Given the description of an element on the screen output the (x, y) to click on. 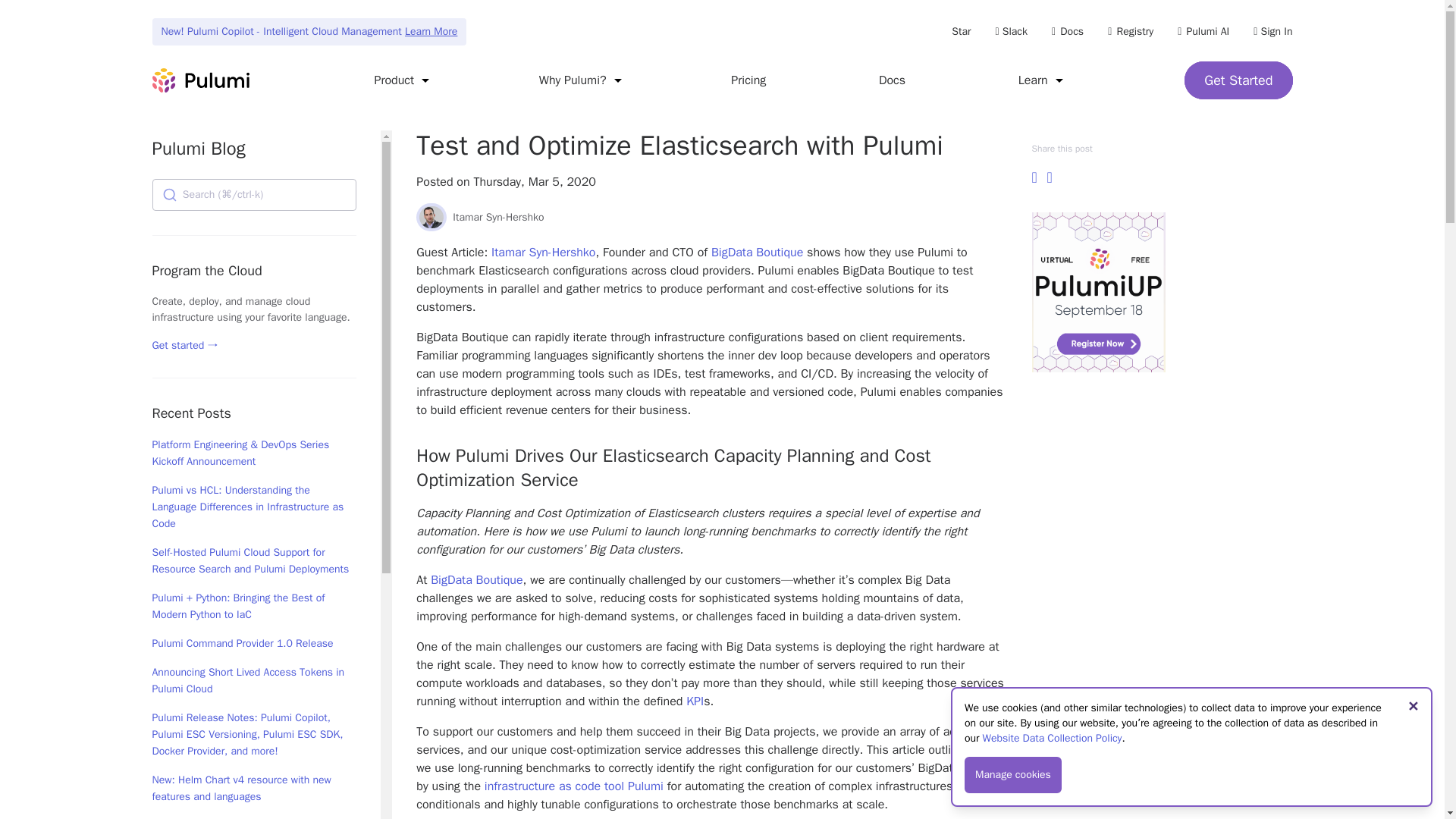
Pulumi AI (1202, 31)
Star (961, 31)
Docs (1067, 31)
Slack (1010, 31)
Pricing (748, 80)
Registry (1130, 31)
Sign In (1272, 31)
Itamar Syn-Hershko (431, 217)
Get Started (1238, 80)
Docs (891, 80)
Close (1412, 706)
